Given the description of an element on the screen output the (x, y) to click on. 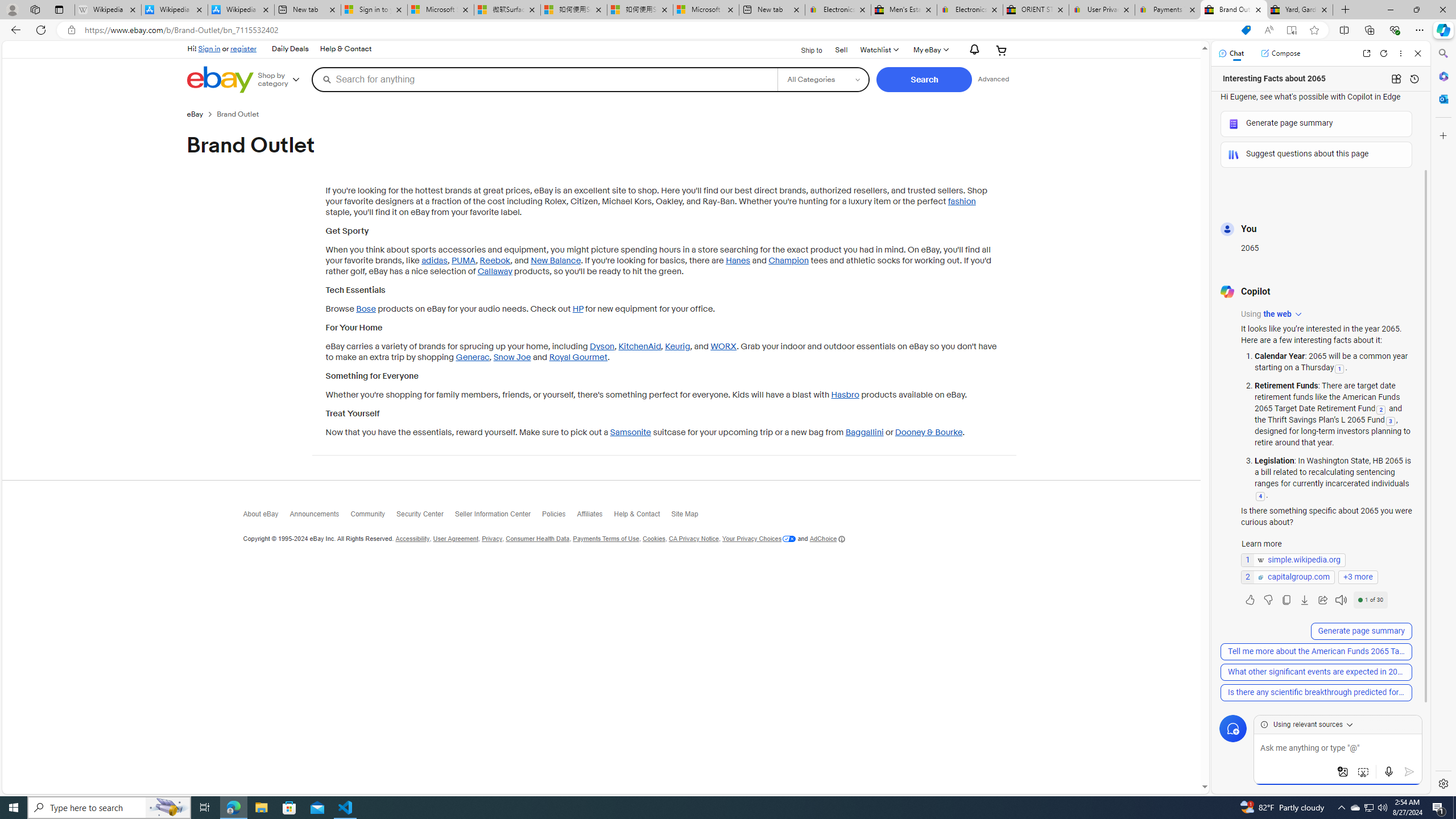
adidas (433, 260)
Keurig (677, 346)
Help & Contact (641, 516)
PUMA (463, 260)
Policies (558, 517)
Announcements (319, 517)
User Agreement (455, 538)
